Given the description of an element on the screen output the (x, y) to click on. 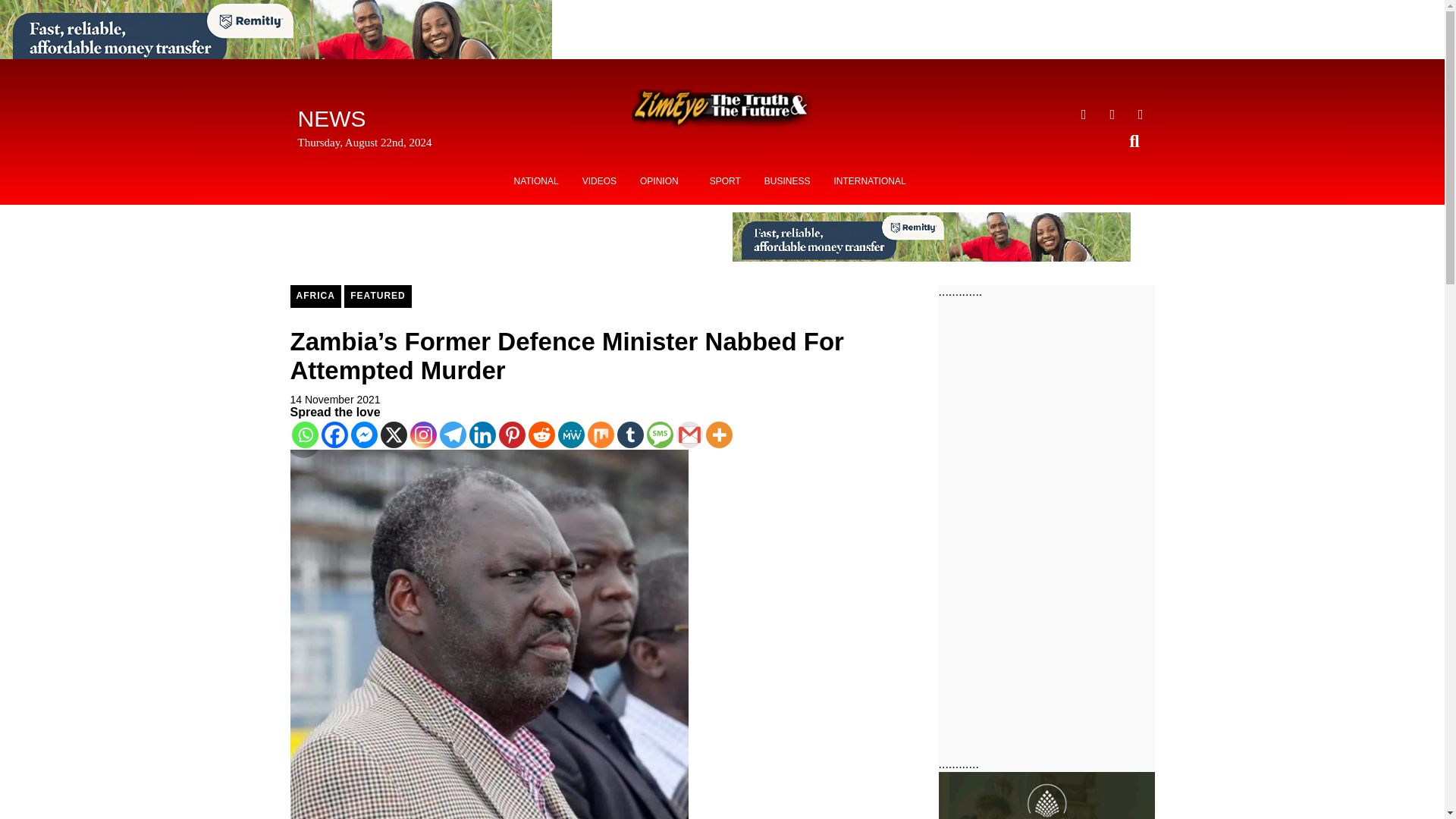
SPORT (725, 181)
Facebook (334, 434)
Telegram (452, 434)
INTERNATIONAL (868, 181)
AFRICA (314, 296)
BUSINESS (787, 181)
Facebook Messenger (363, 434)
Reddit (540, 434)
X (393, 434)
Linkedin (481, 434)
